Given the description of an element on the screen output the (x, y) to click on. 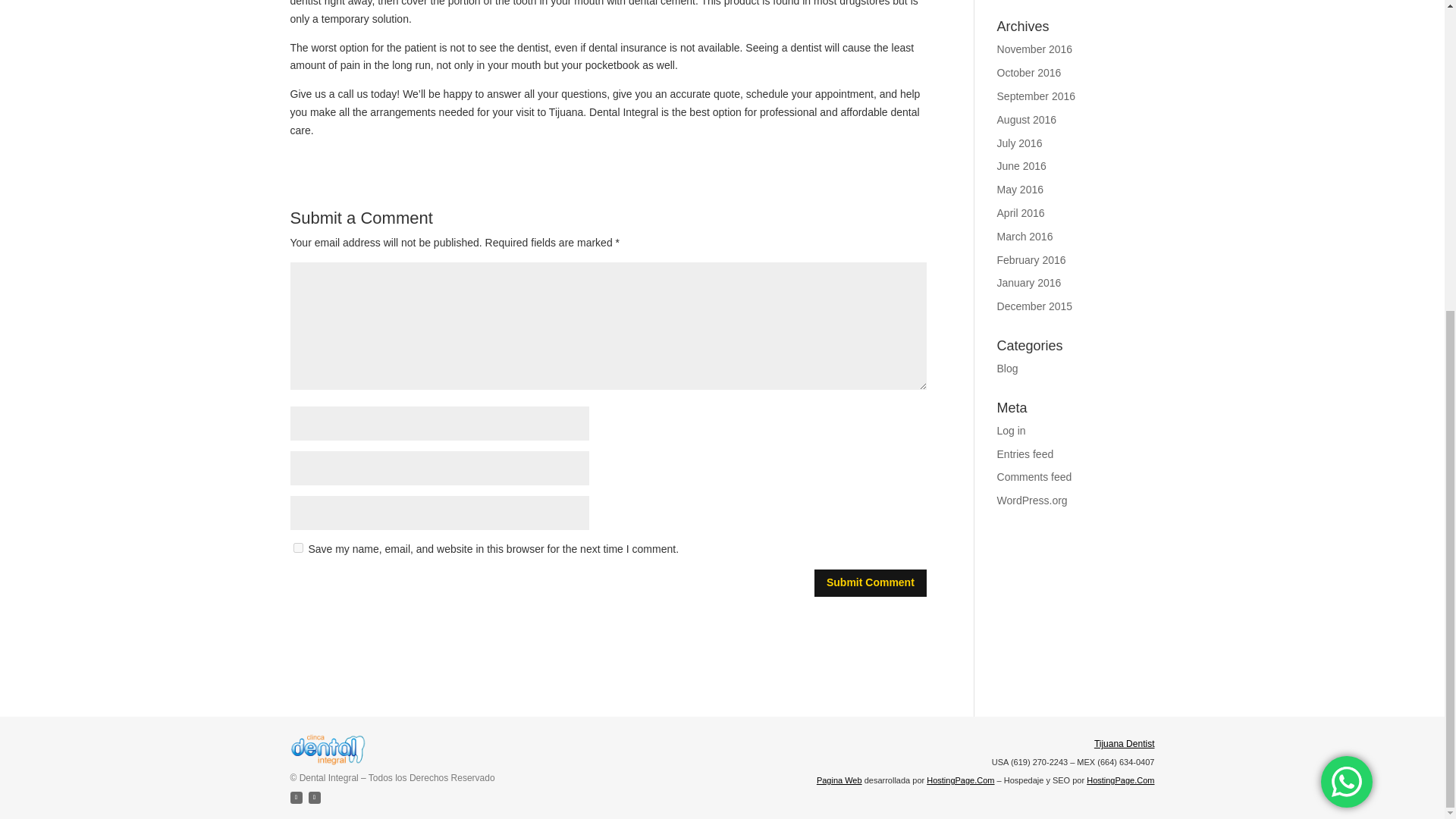
Follow on Instagram (313, 797)
Submit Comment (869, 583)
August 2016 (1027, 119)
September 2016 (1036, 96)
Follow on Facebook (295, 797)
October 2016 (1029, 72)
May 2016 (1020, 189)
November 2016 (1035, 49)
Tijuana Dentist (1124, 743)
Submit Comment (869, 583)
July 2016 (1019, 143)
June 2016 (1021, 165)
April 2016 (1021, 213)
yes (297, 547)
March 2016 (1024, 236)
